Given the description of an element on the screen output the (x, y) to click on. 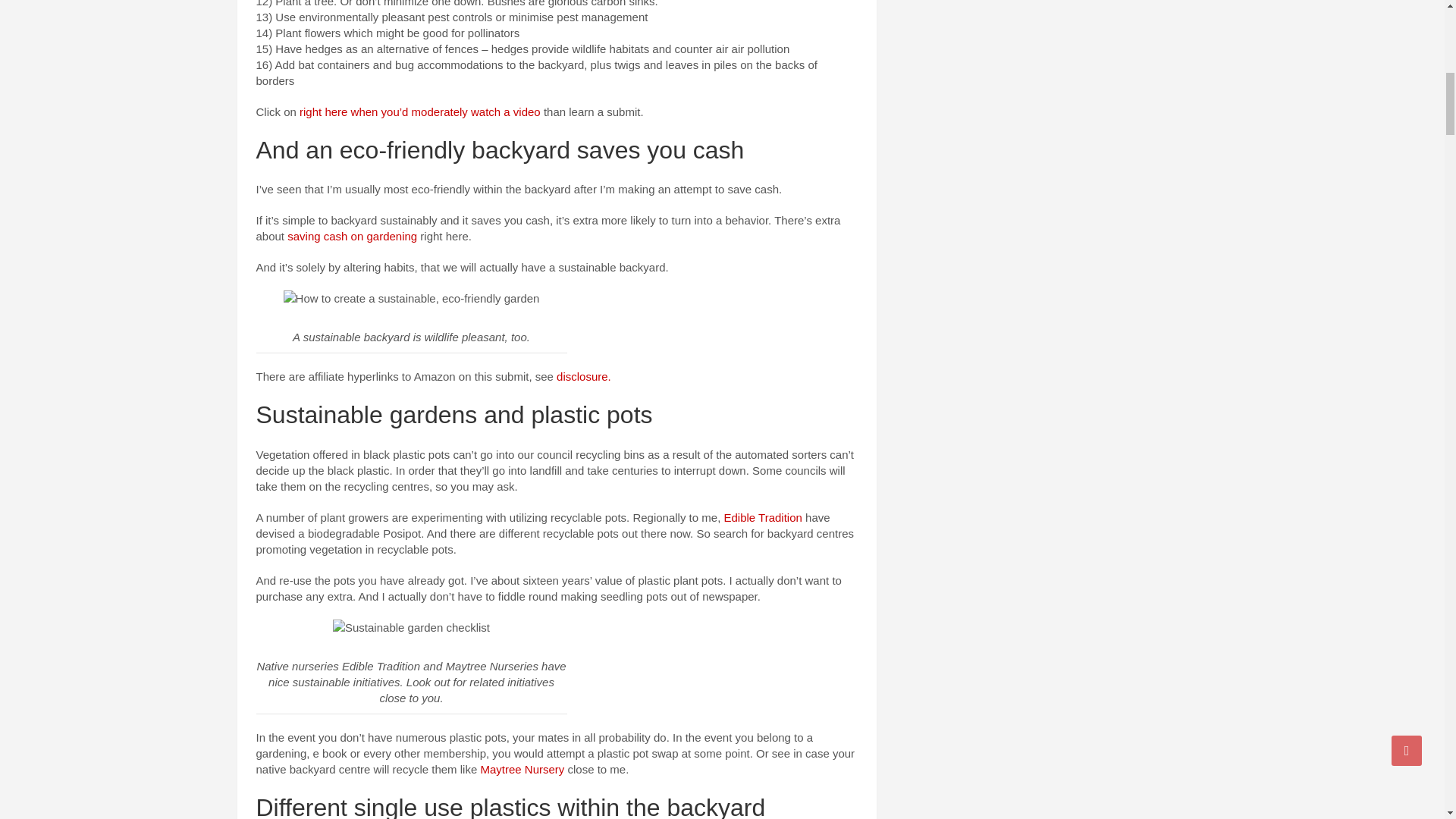
disclosure. (583, 376)
saving cash on gardening (351, 236)
Edible Tradition (762, 517)
How to create a sustainable garden (411, 627)
Maytree Nursery (522, 768)
